Given the description of an element on the screen output the (x, y) to click on. 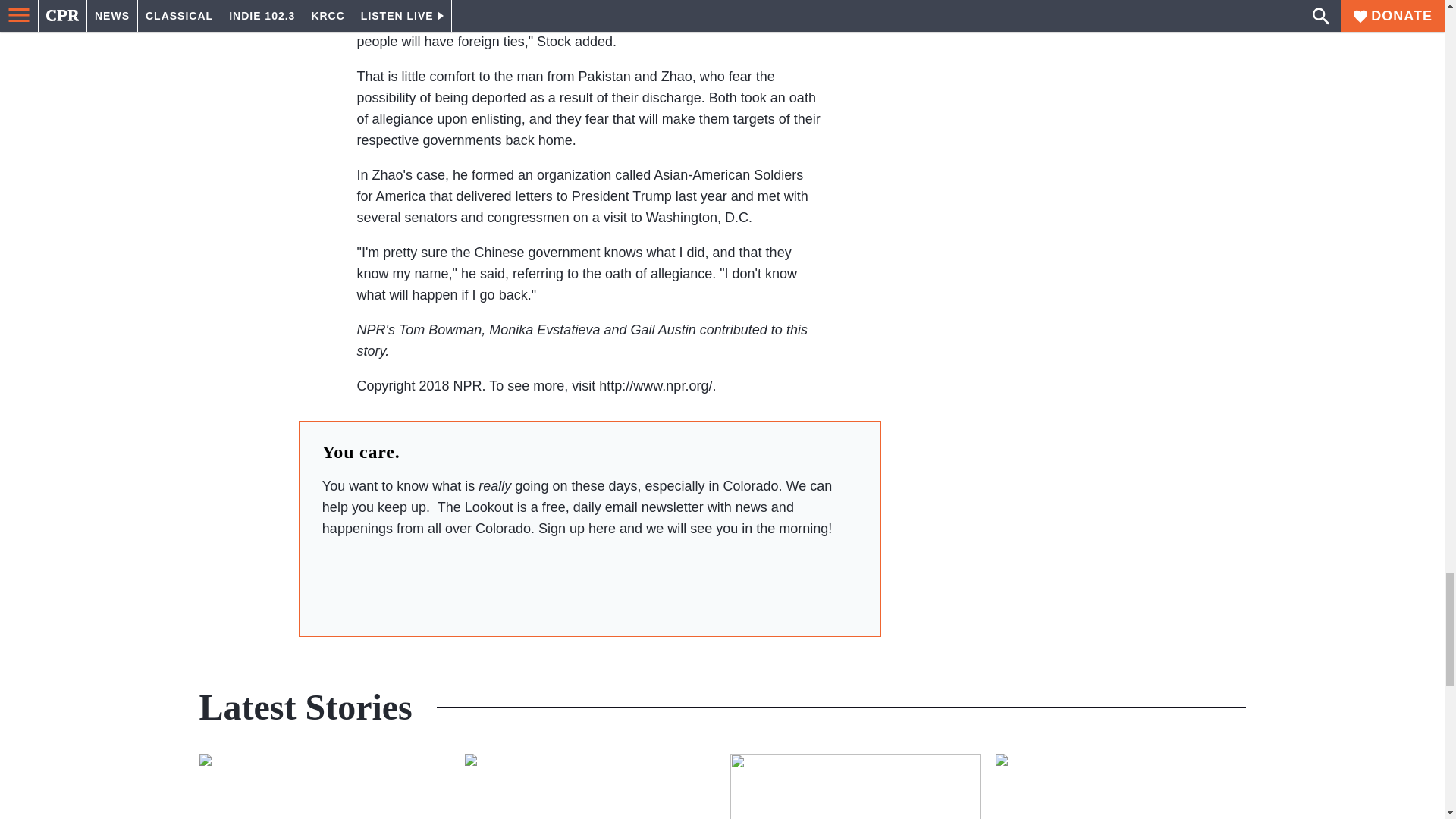
newsArticleSignup (589, 581)
